Given the description of an element on the screen output the (x, y) to click on. 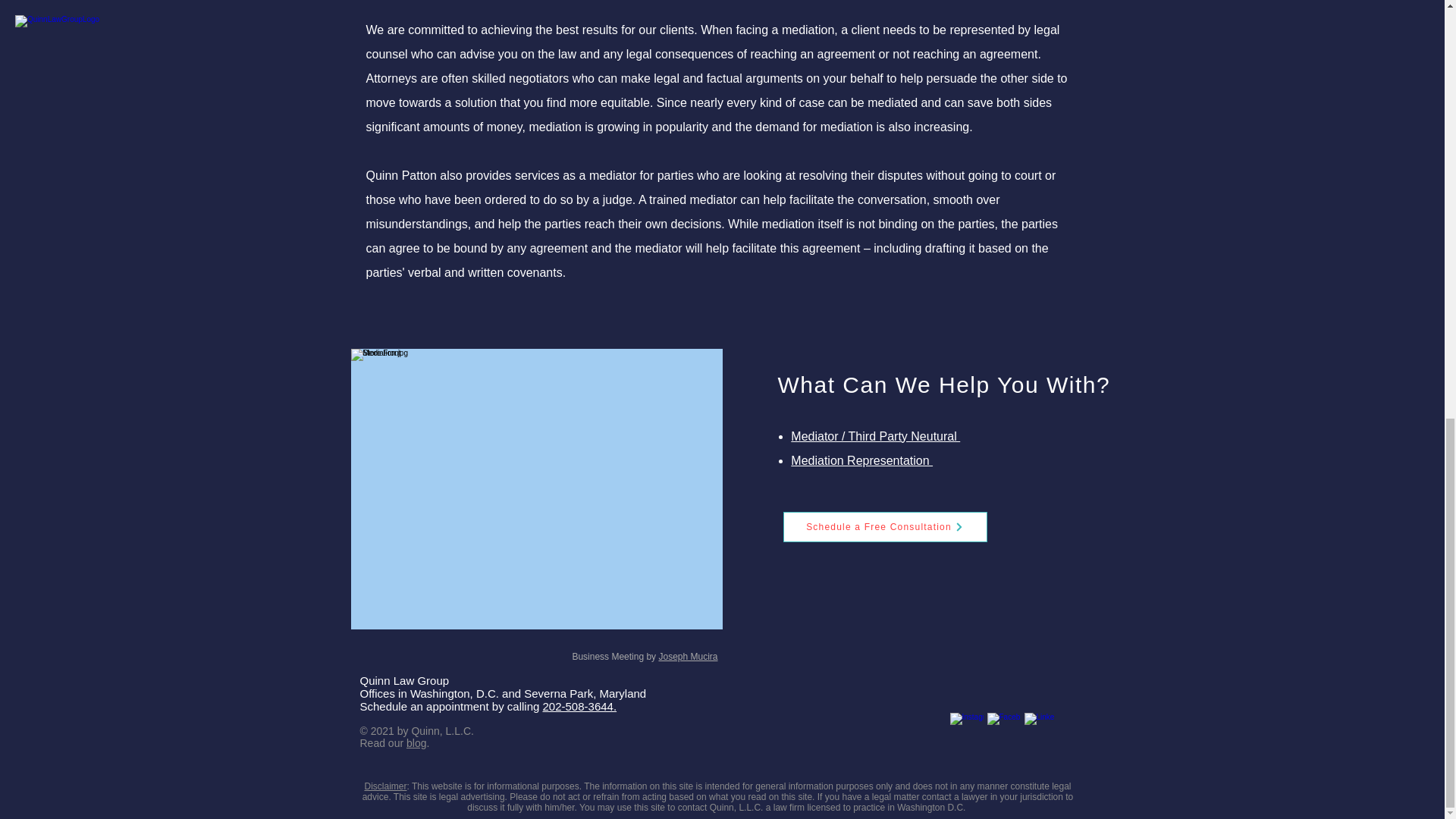
Disclaimer (385, 786)
Mediation Representation  (861, 460)
Schedule a Free Consultation (885, 526)
Joseph Mucira (687, 656)
